Given the description of an element on the screen output the (x, y) to click on. 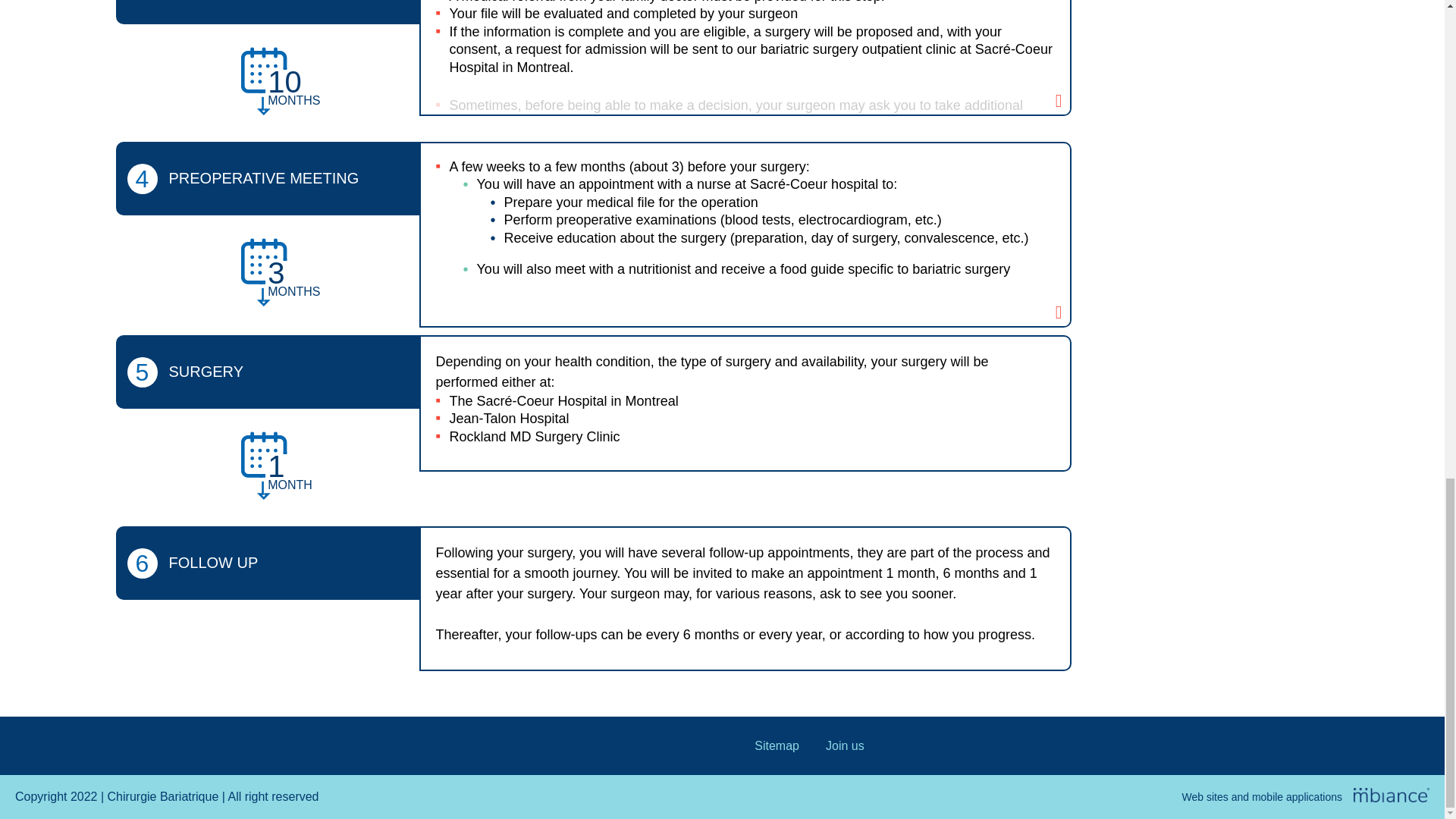
Sitemap (776, 745)
Join us (844, 745)
mbiance (1391, 794)
